Given the description of an element on the screen output the (x, y) to click on. 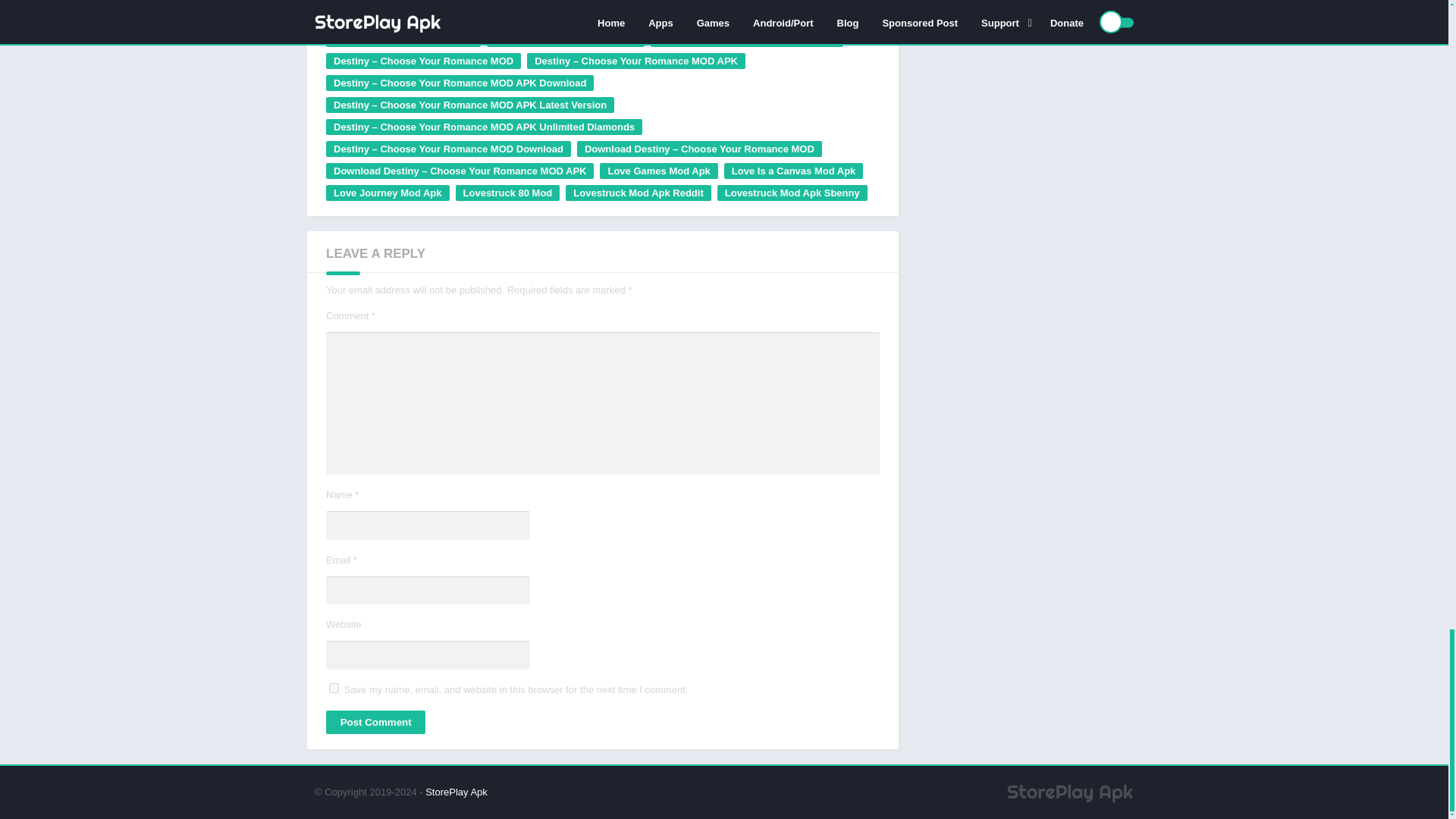
yes (334, 687)
Post Comment (375, 721)
